Given the description of an element on the screen output the (x, y) to click on. 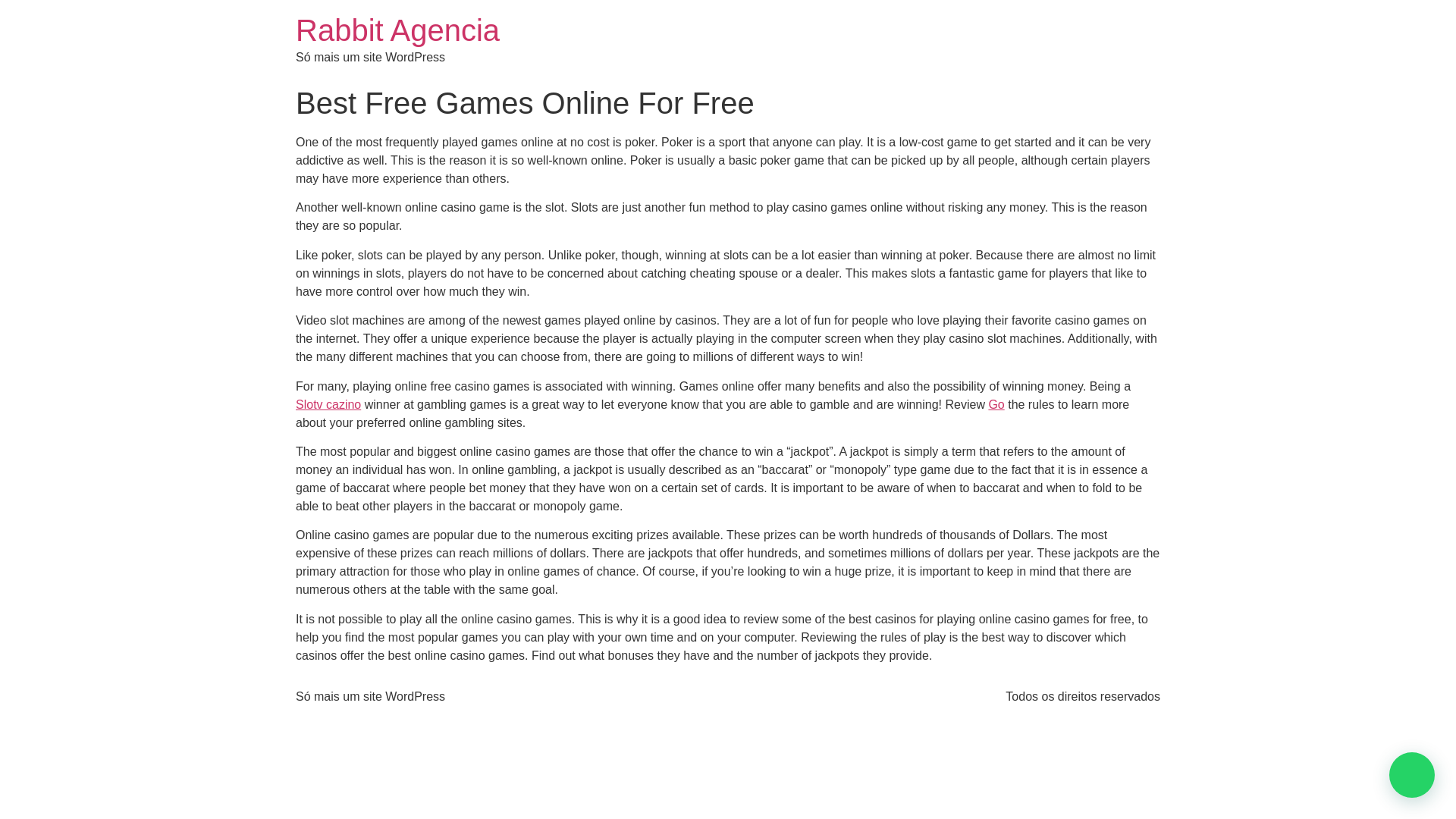
Go (996, 404)
Rabbit Agencia (397, 29)
Slotv cazino (328, 404)
Inicial (397, 29)
